Given the description of an element on the screen output the (x, y) to click on. 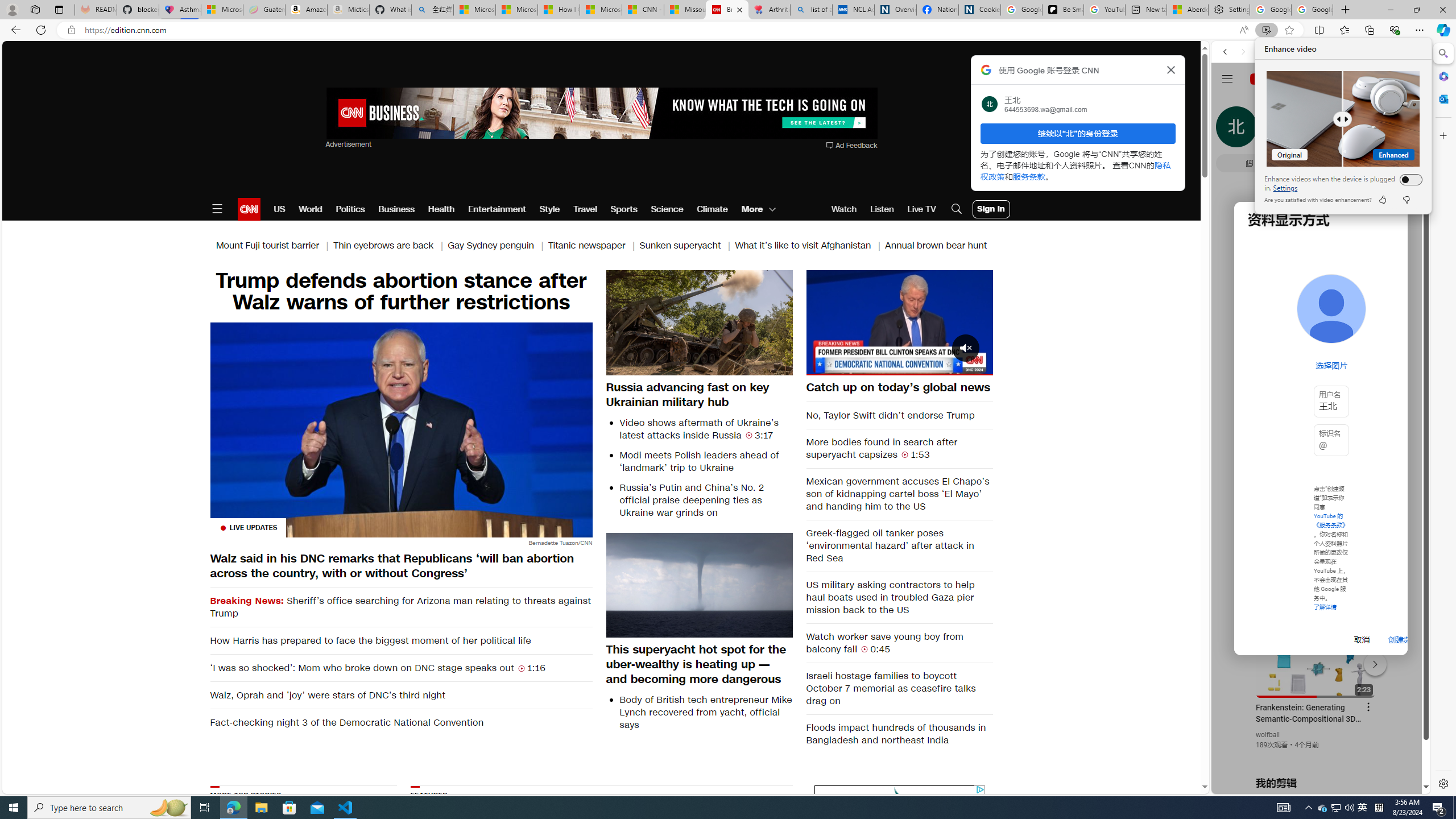
Forward 10 seconds (933, 321)
Like (1362, 807)
Titanic newspaper | (1382, 199)
Thin eyebrows are back | (593, 245)
